Given the description of an element on the screen output the (x, y) to click on. 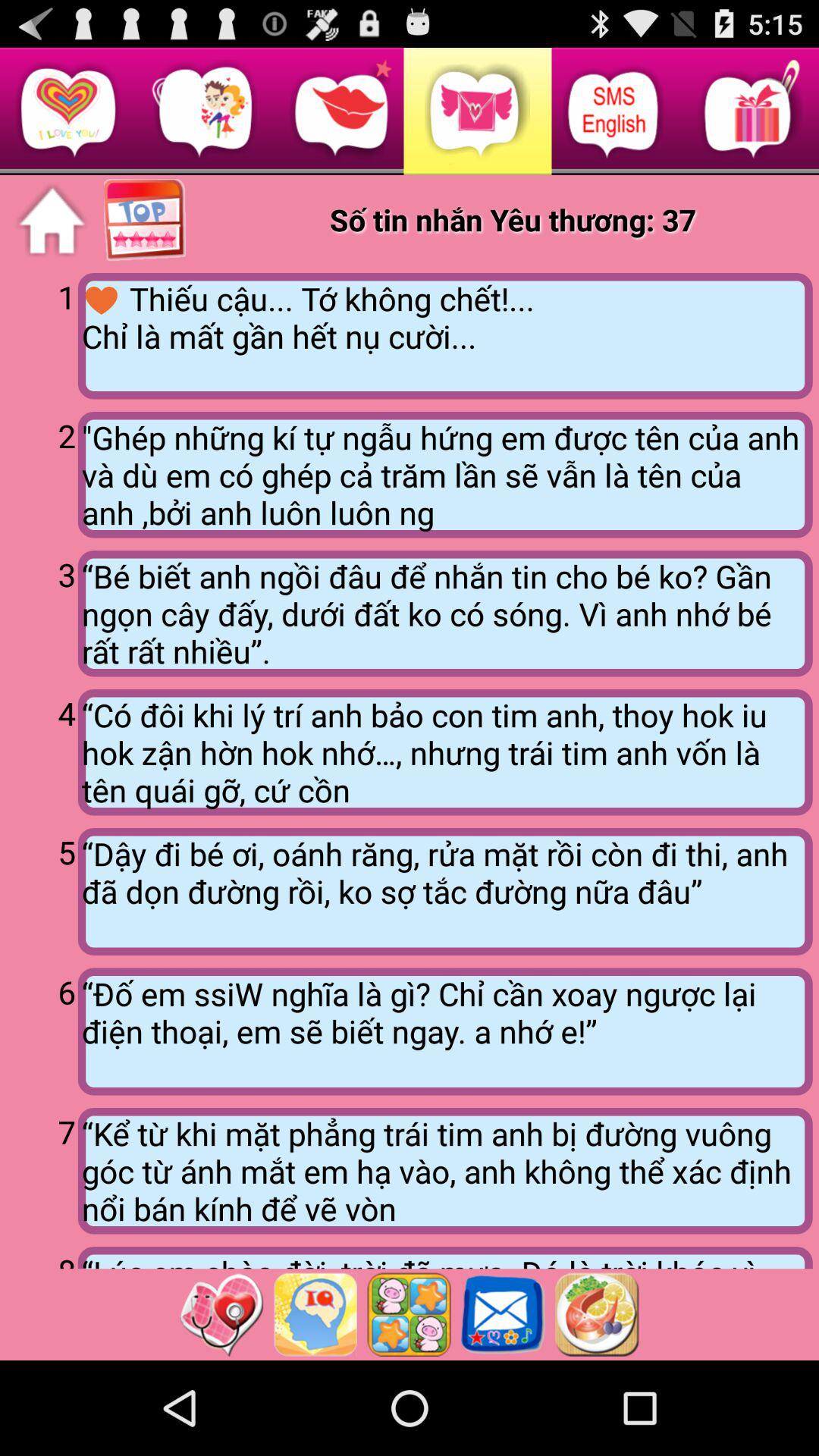
open item next to the 1 (444, 336)
